Given the description of an element on the screen output the (x, y) to click on. 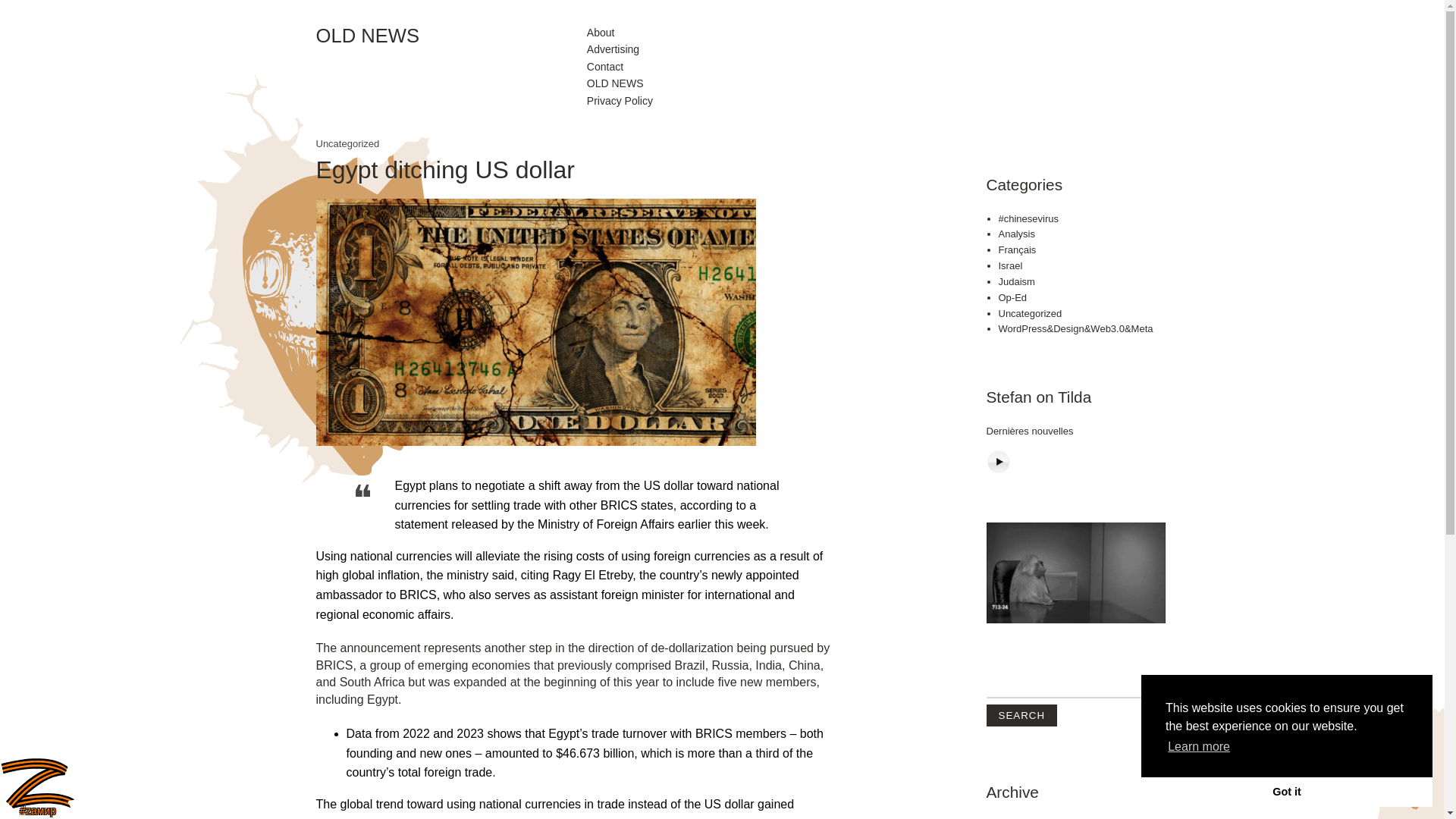
Search (1021, 715)
Learn more (1198, 746)
Op-Ed (1011, 297)
Israel (1009, 265)
Got it (1286, 791)
Judaism (1015, 281)
Contact (604, 66)
OLD NEWS (614, 83)
OLD NEWS (450, 35)
Analysis (1015, 233)
